Given the description of an element on the screen output the (x, y) to click on. 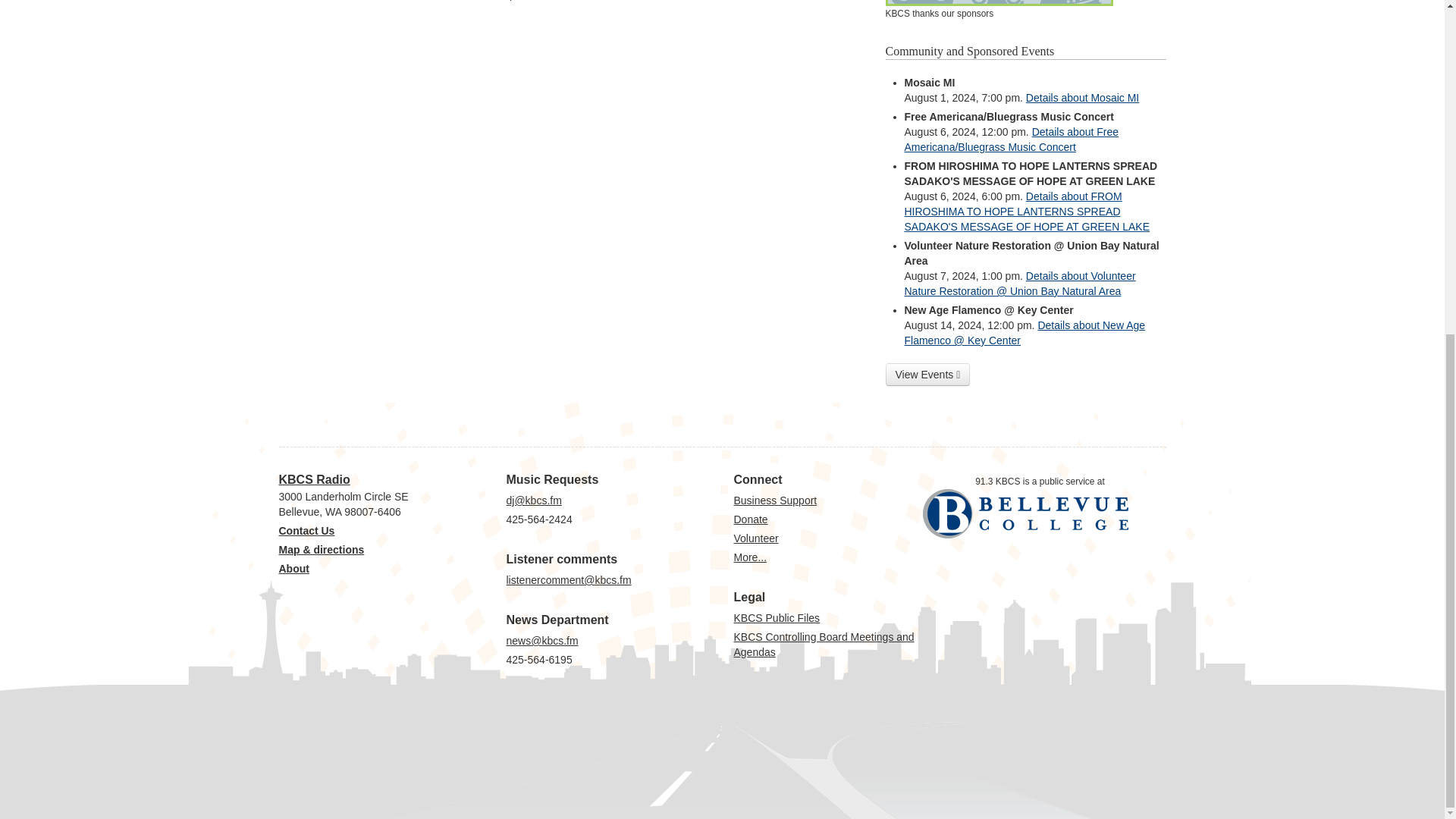
Details about Mosaic MI (1082, 97)
View Events (928, 374)
